Given the description of an element on the screen output the (x, y) to click on. 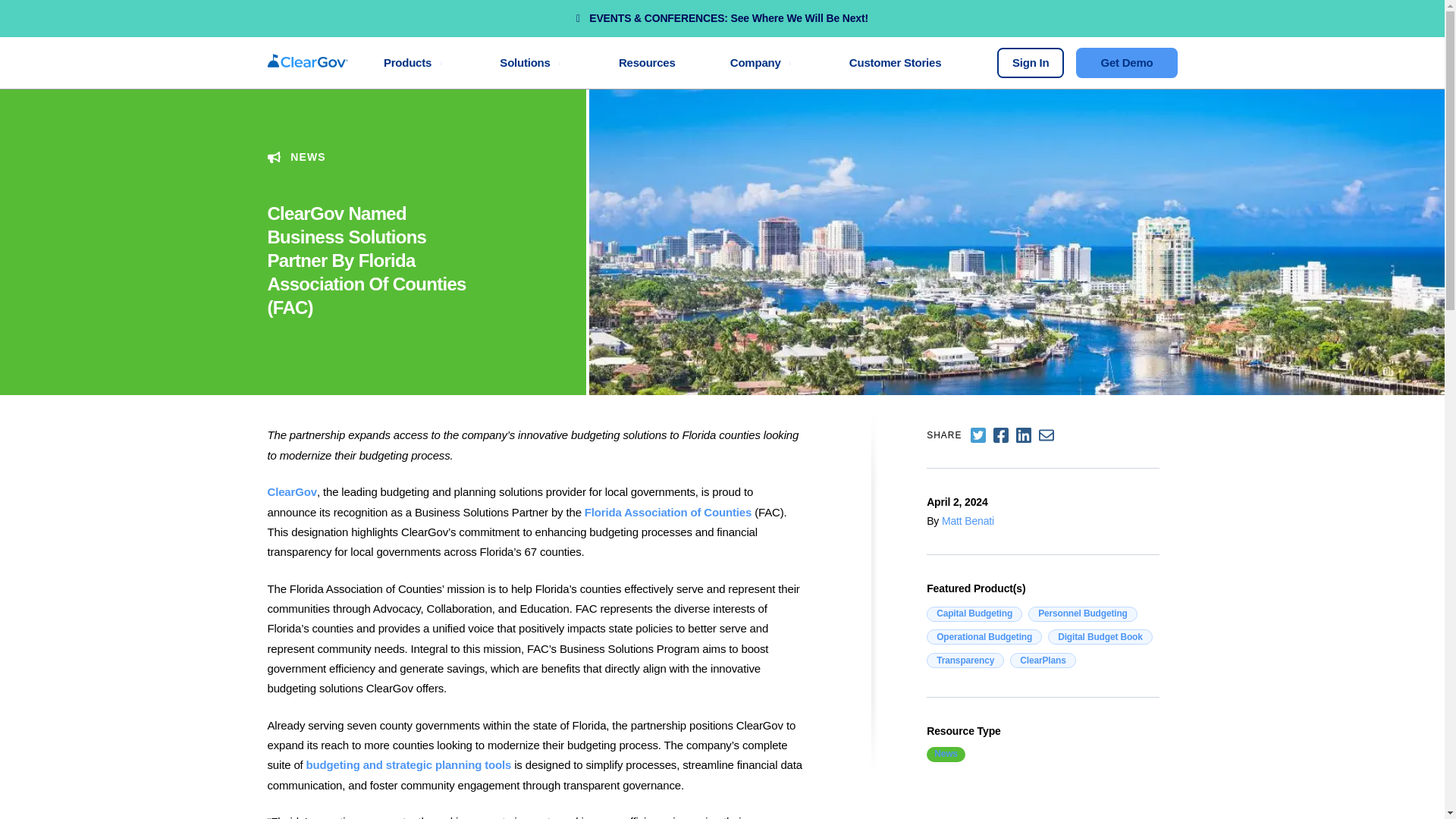
Company (761, 62)
Customer Stories (894, 62)
Products (413, 62)
Sign In (1030, 62)
Solutions (531, 62)
Florida Association of Counties (668, 512)
budgeting and strategic planning tools (408, 764)
Get Demo (1125, 62)
ClearGov (290, 491)
Resources (647, 62)
